Given the description of an element on the screen output the (x, y) to click on. 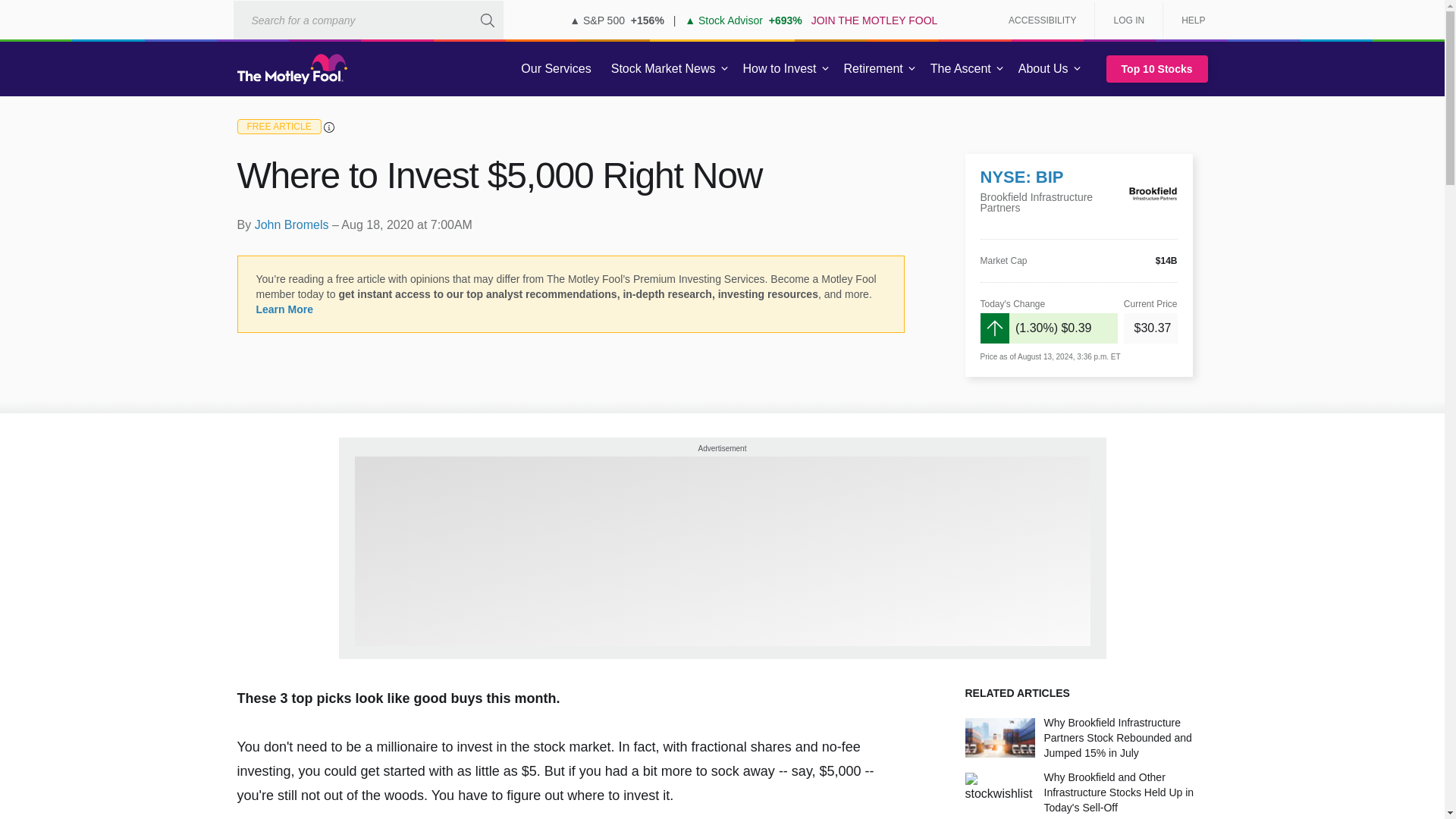
LOG IN (1128, 19)
HELP (1187, 19)
ACCESSIBILITY (1042, 19)
Stock Market News (662, 68)
How to Invest (779, 68)
Our Services (555, 68)
